Given the description of an element on the screen output the (x, y) to click on. 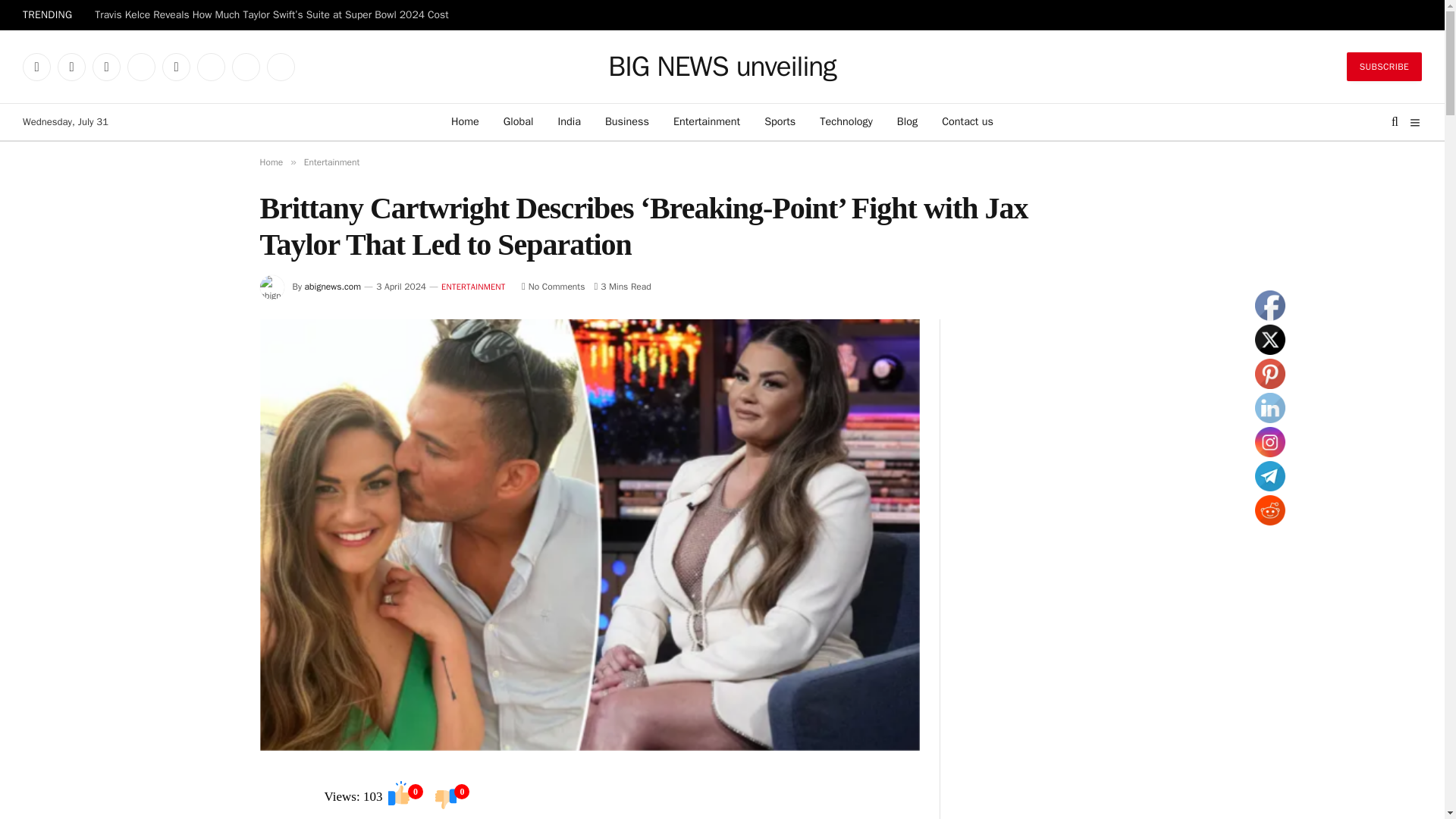
India (568, 122)
Blog (907, 122)
Entertainment (706, 122)
Posts by abignews.com (332, 286)
Facebook (36, 67)
Reddit (245, 67)
Global (519, 122)
SUBSCRIBE (1384, 66)
LinkedIn (175, 67)
Instagram (106, 67)
WhatsApp (210, 67)
BIG NEWS unveiling (721, 66)
Business (626, 122)
Contact us (968, 122)
Sports (780, 122)
